Given the description of an element on the screen output the (x, y) to click on. 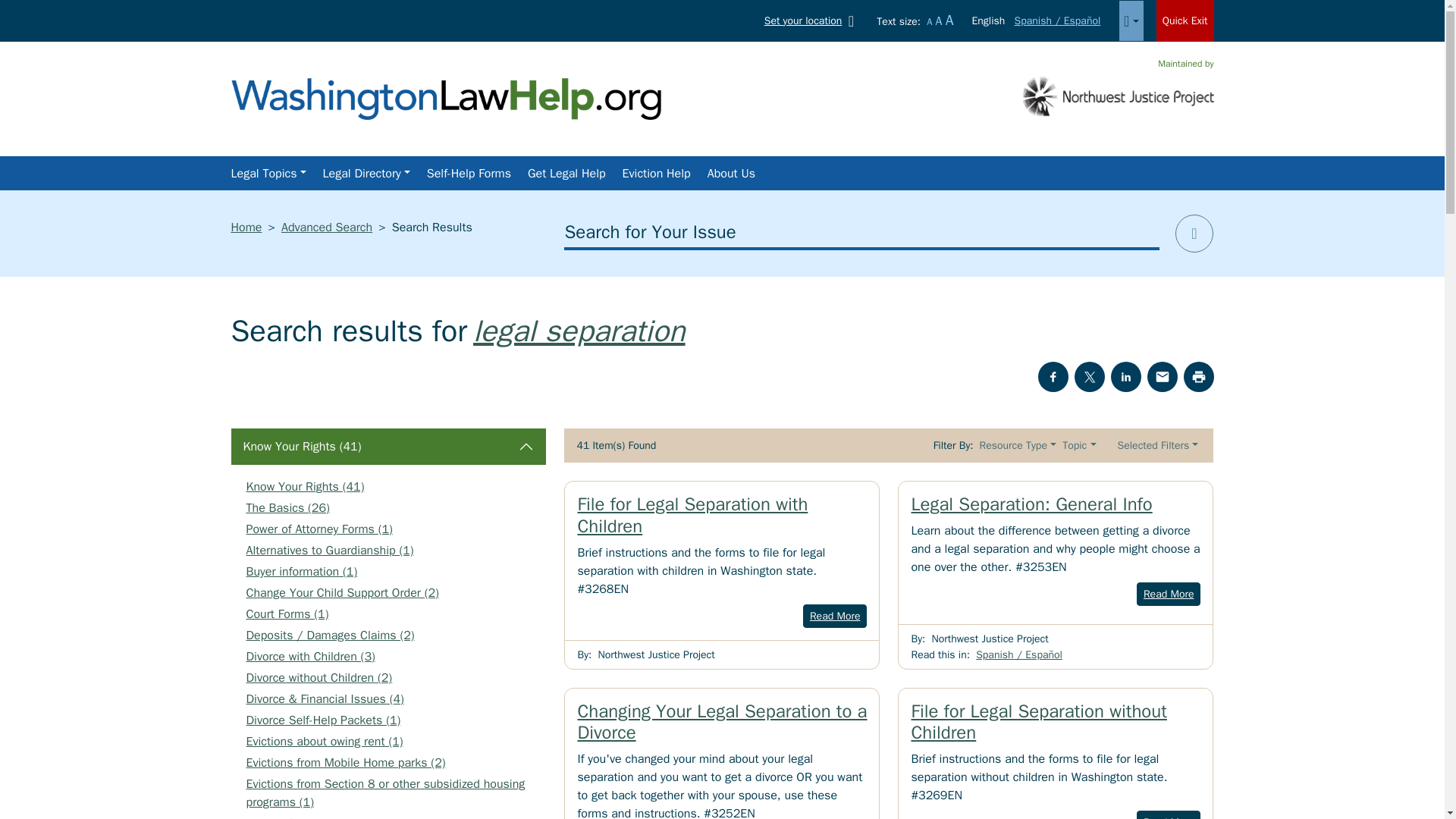
Quick Exit (1184, 20)
A (928, 21)
Legal Topics (267, 173)
A (948, 19)
Set your location (812, 20)
Set your location (812, 20)
All Languages (1130, 20)
A (939, 20)
